Given the description of an element on the screen output the (x, y) to click on. 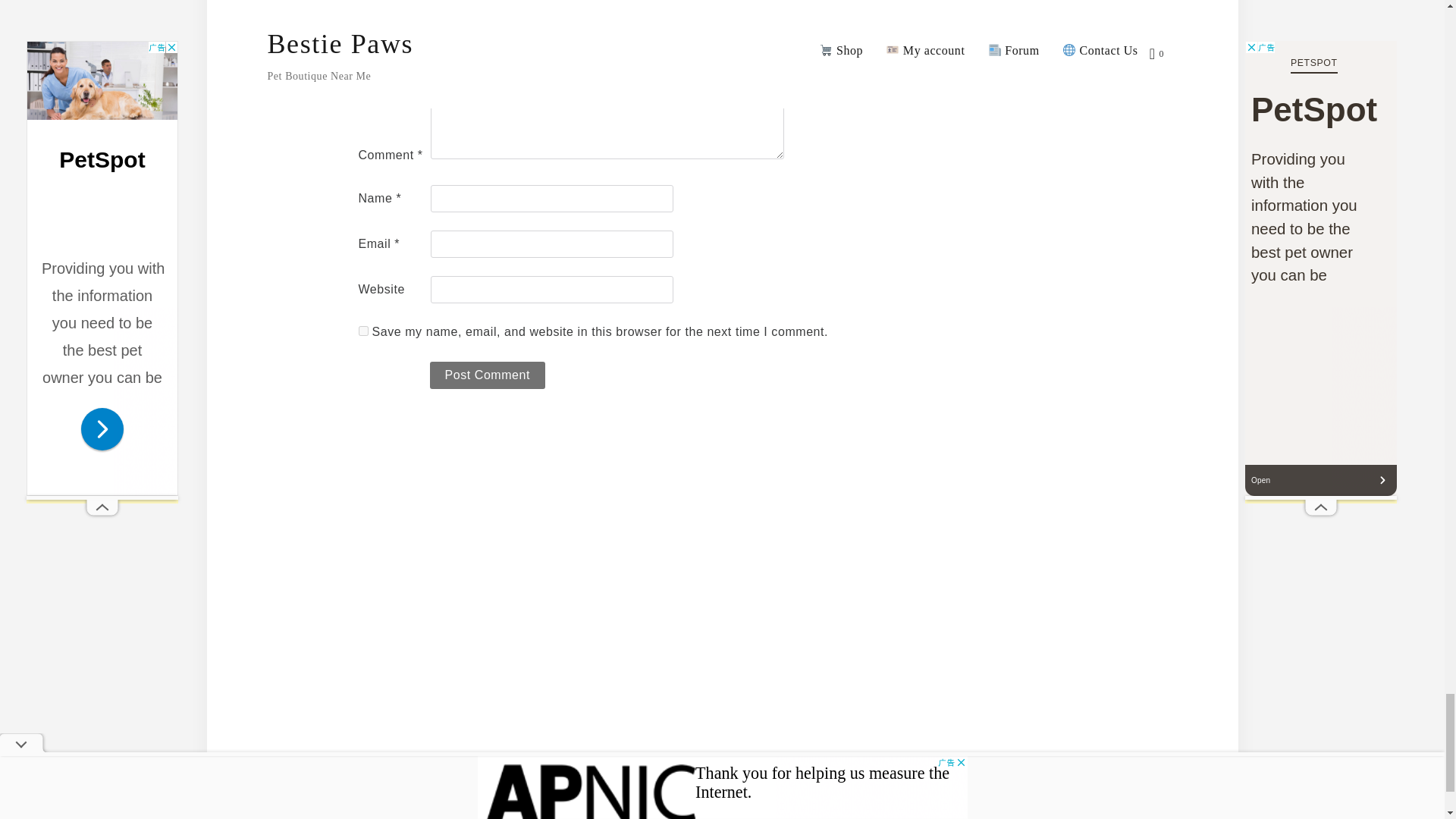
Bestie Paws Hospital (717, 799)
Post Comment (486, 375)
yes (363, 330)
Post Comment (486, 375)
